Given the description of an element on the screen output the (x, y) to click on. 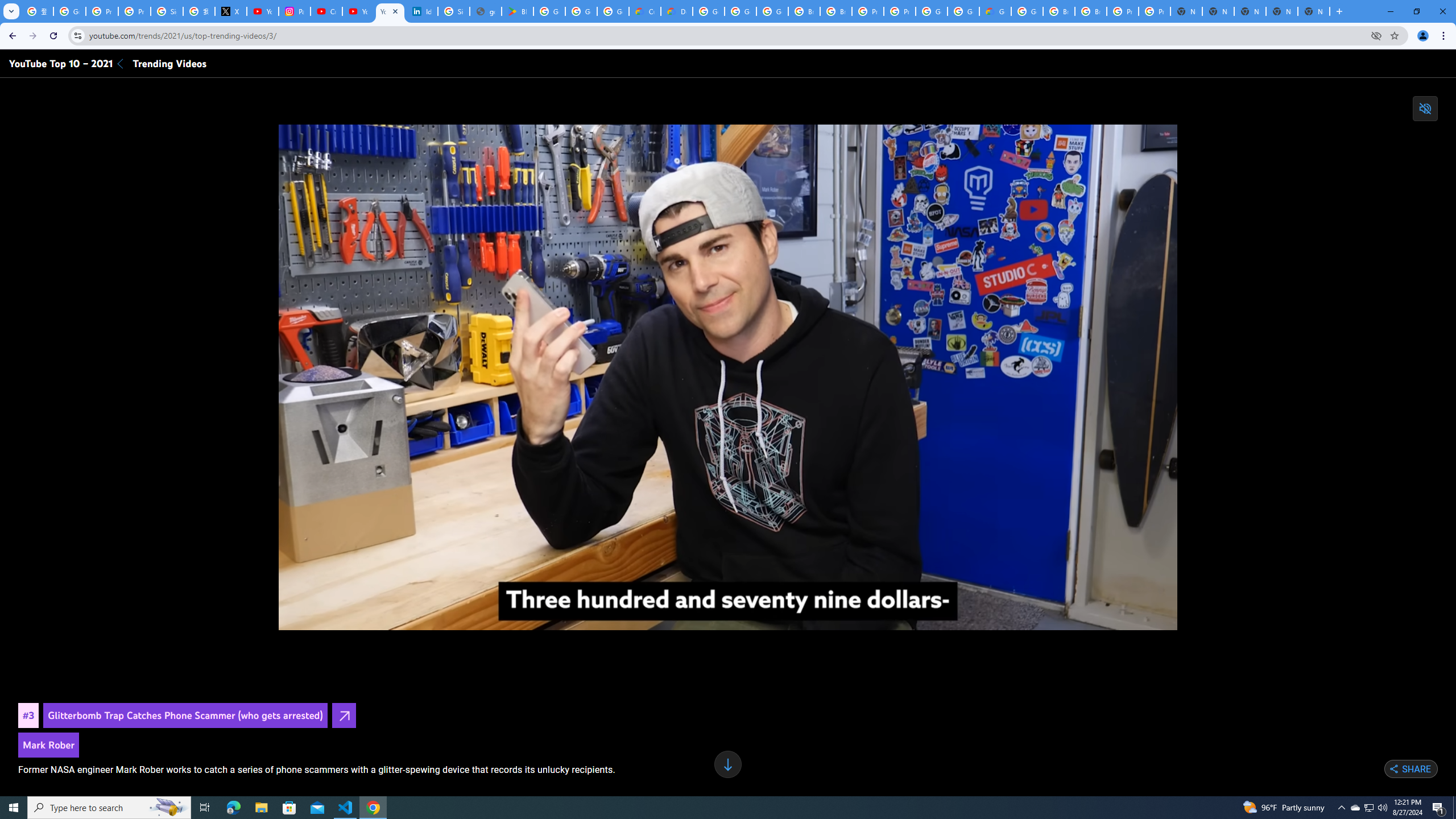
Browse Chrome as a guest - Computer - Google Chrome Help (1059, 11)
Customer Care | Google Cloud (644, 11)
Copy Link (1380, 768)
Browse Chrome as a guest - Computer - Google Chrome Help (804, 11)
